Given the description of an element on the screen output the (x, y) to click on. 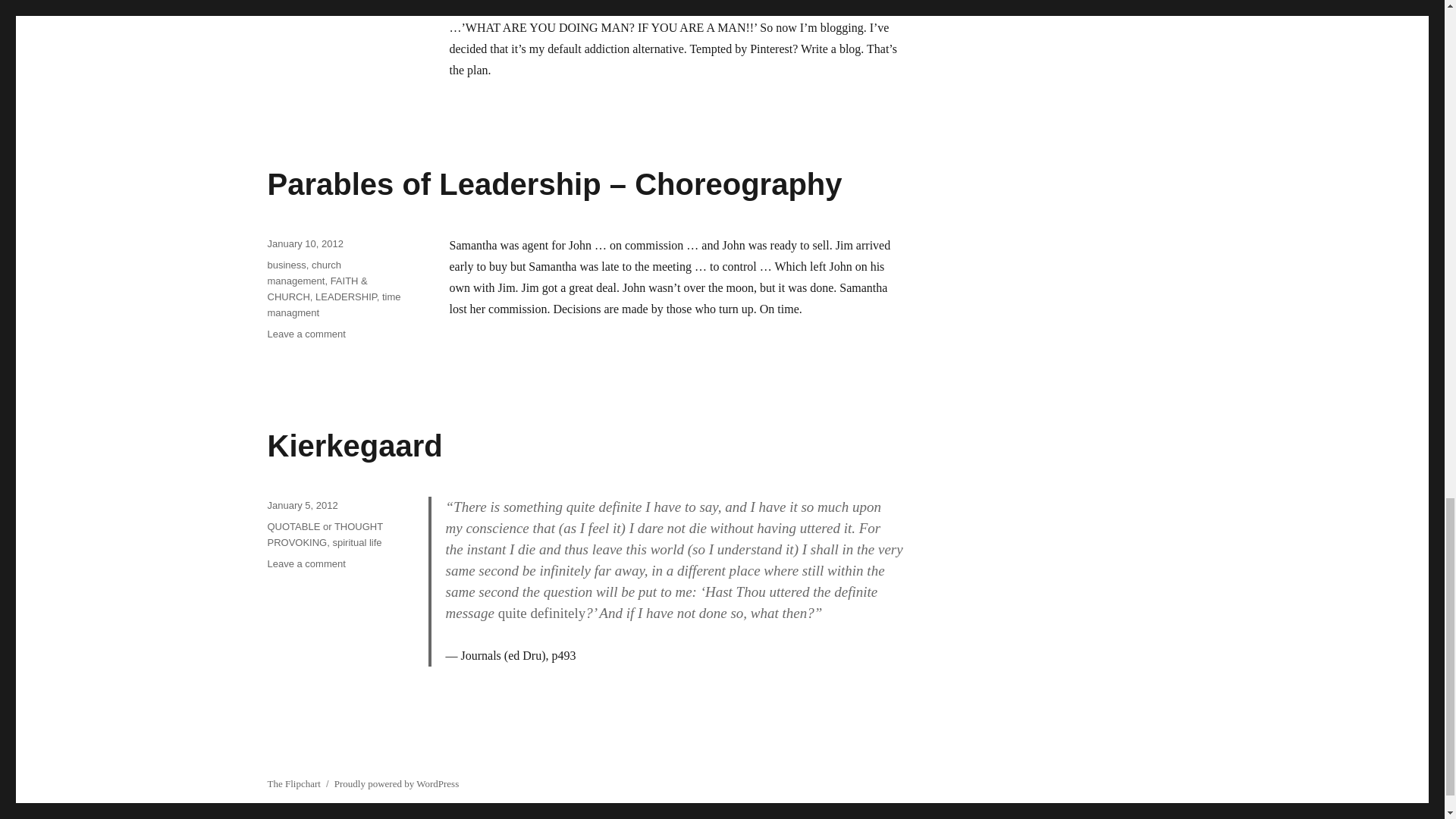
time managment (333, 304)
spiritual life (305, 563)
Kierkegaard (356, 542)
QUOTABLE or THOUGHT PROVOKING (354, 445)
January 5, 2012 (323, 533)
business (301, 505)
January 10, 2012 (285, 265)
LEADERSHIP (304, 243)
church management (346, 296)
